Given the description of an element on the screen output the (x, y) to click on. 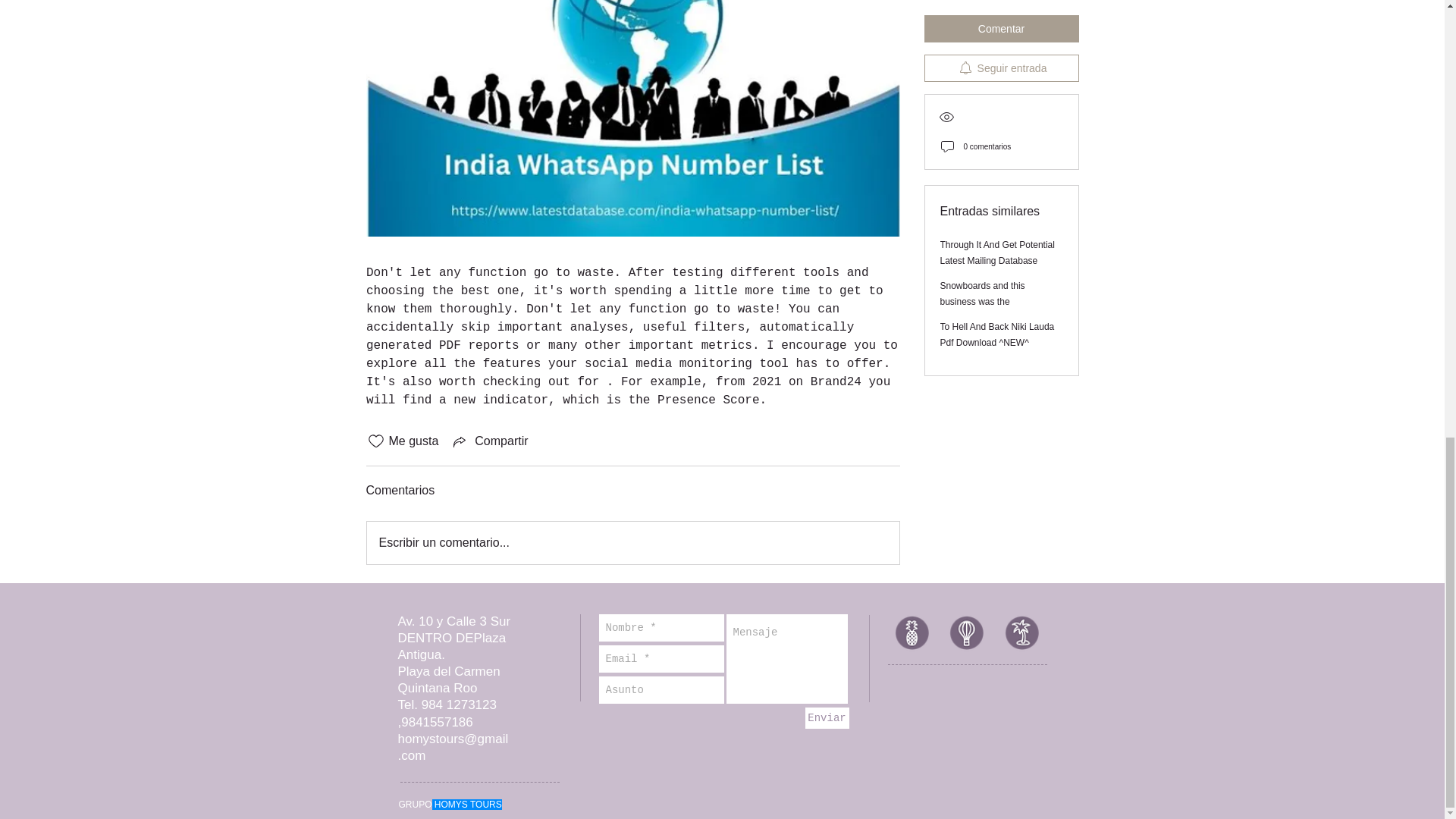
Compartir (488, 441)
Enviar (826, 717)
Escribir un comentario... (632, 542)
